Given the description of an element on the screen output the (x, y) to click on. 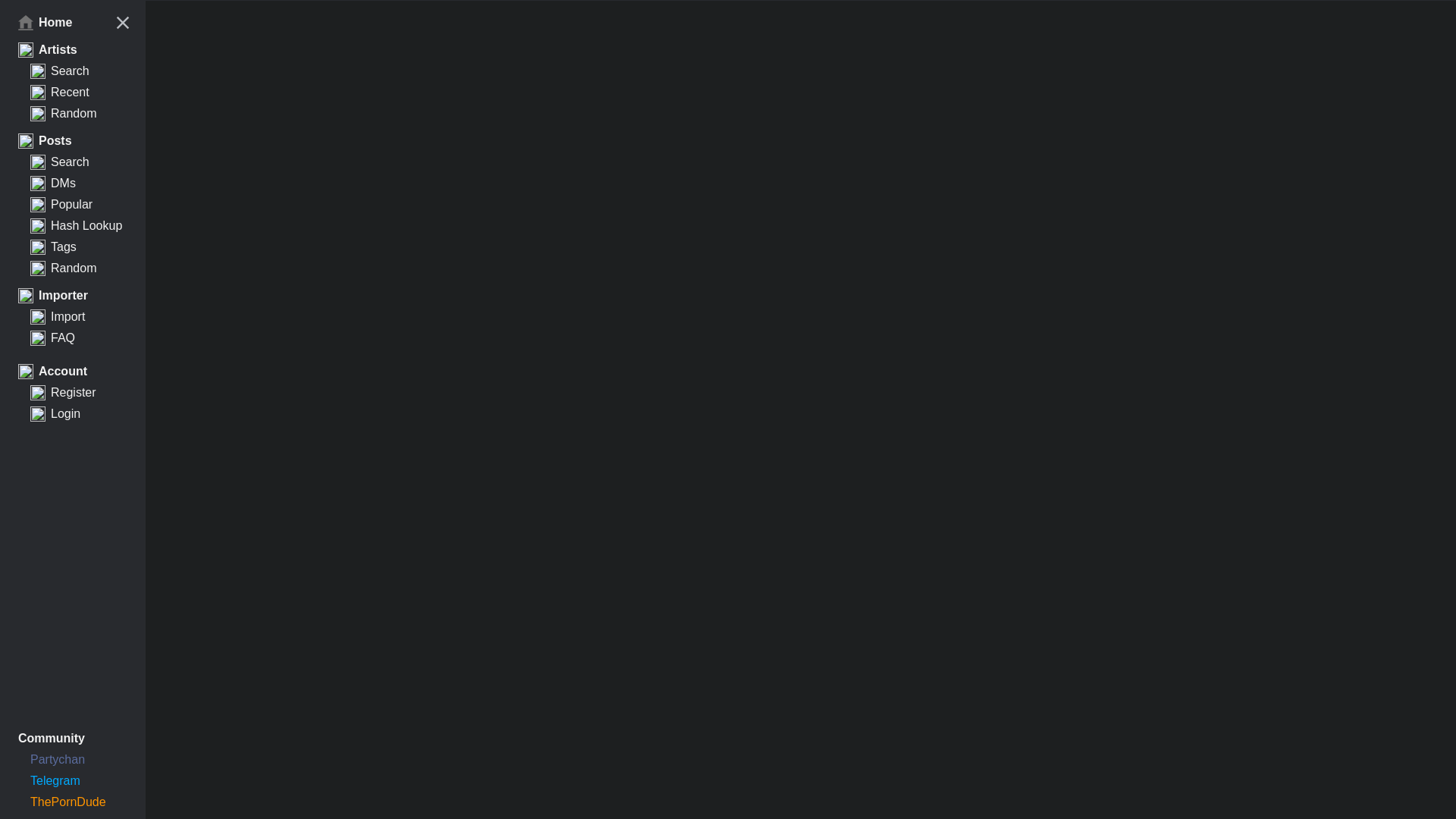
DMs (72, 183)
Random (72, 268)
Search (72, 70)
FAQ (72, 337)
Import (333, 0)
Import (72, 316)
Hash Lookup (72, 225)
Popular (72, 204)
Register (381, 0)
ThePornDude (72, 802)
Tags (72, 246)
Search (72, 161)
Telegram (72, 780)
